Given the description of an element on the screen output the (x, y) to click on. 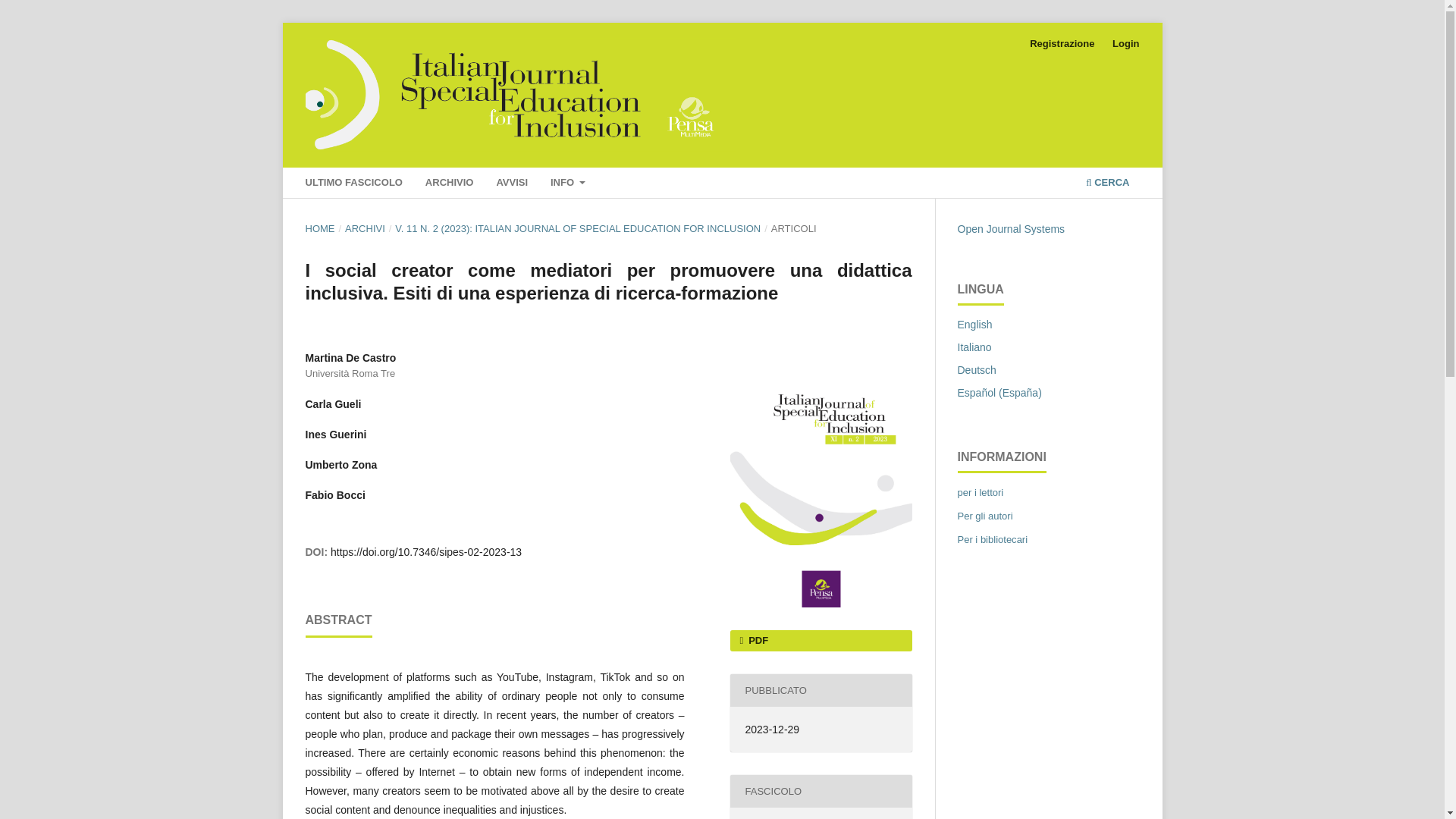
ULTIMO FASCICOLO (353, 184)
ARCHIVI (365, 228)
ARCHIVIO (449, 184)
Registrazione (1062, 43)
INFO (568, 184)
PDF (820, 640)
CERCA (1107, 184)
HOME (319, 228)
Login (1126, 43)
AVVISI (512, 184)
